Given the description of an element on the screen output the (x, y) to click on. 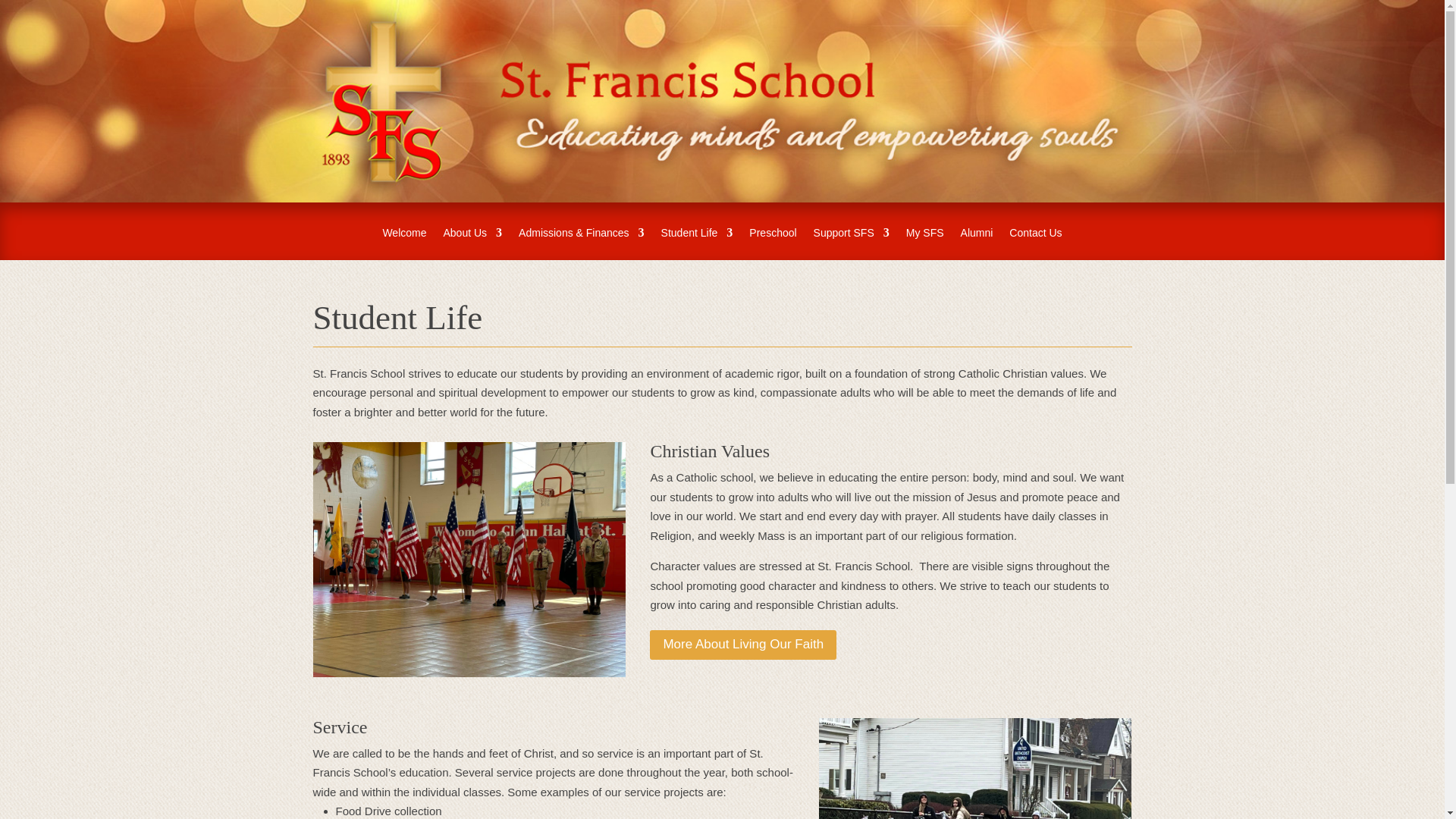
flag ceremony (469, 559)
My SFS (924, 243)
Welcome (403, 243)
Preschool (772, 243)
About Us (472, 243)
Student Life (697, 243)
Alumni (976, 243)
Support SFS (851, 243)
comfort bags (975, 768)
Contact Us (1035, 243)
